Given the description of an element on the screen output the (x, y) to click on. 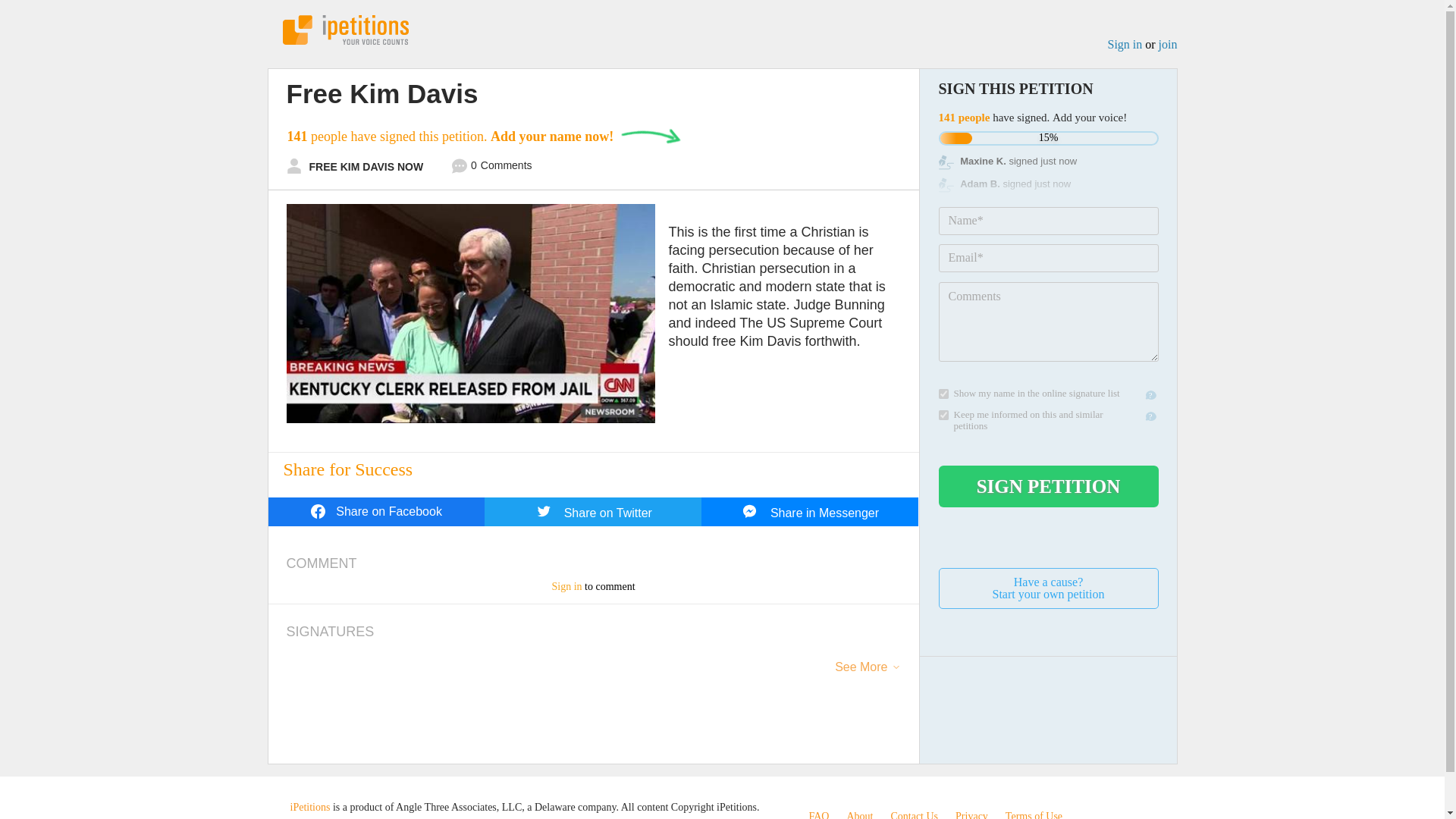
1 (944, 415)
FAQ (818, 814)
Contact Us (913, 814)
join (1167, 43)
iPetitions (1048, 588)
1 (344, 30)
Frequently Asked Question (944, 393)
Terms of Use (818, 814)
About (1034, 814)
Share on Facebook (858, 814)
Sign in (375, 511)
Sign in (565, 586)
0 Comments (1123, 43)
Privacy (491, 167)
